Given the description of an element on the screen output the (x, y) to click on. 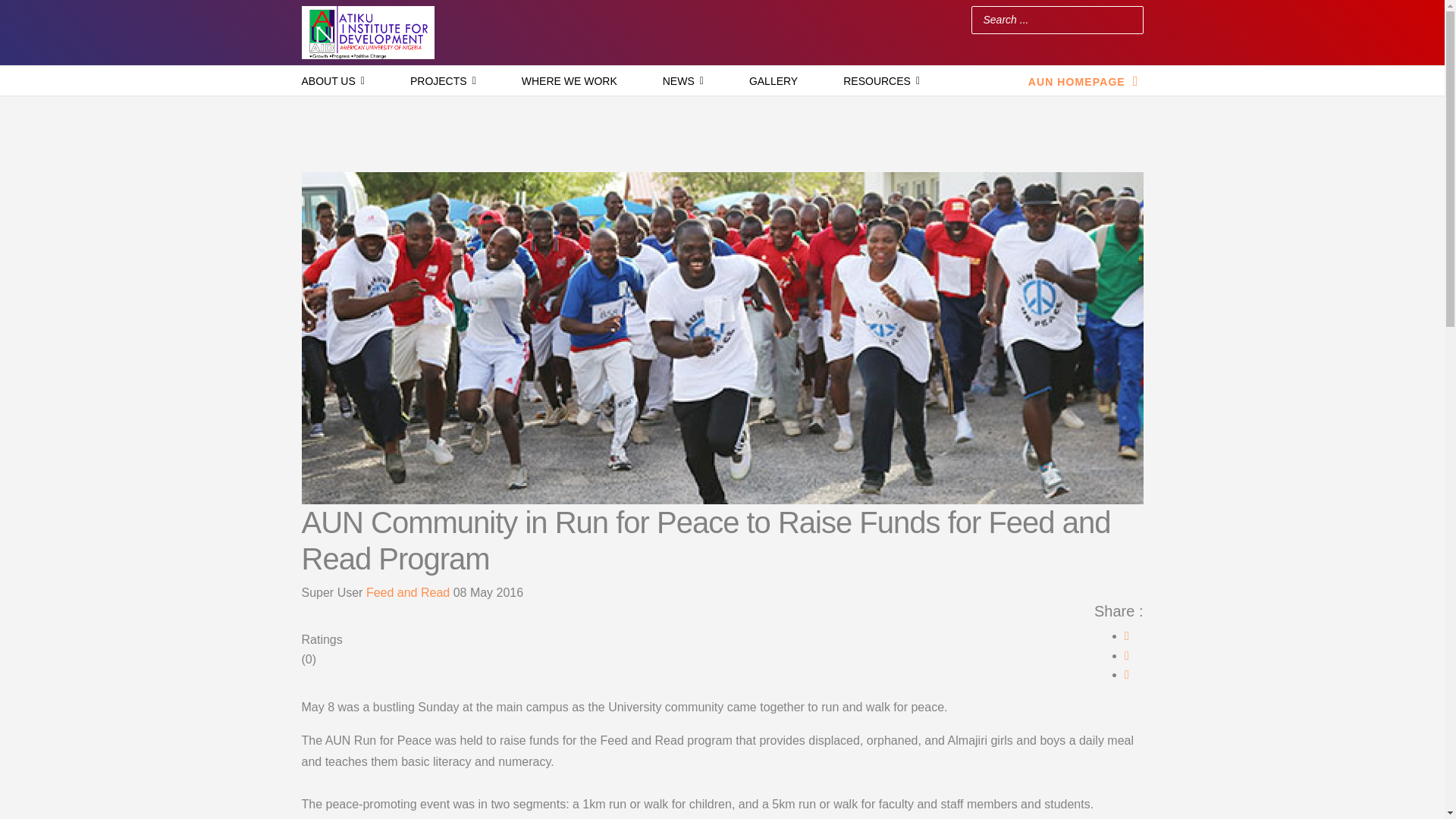
Published: 08 May 2016 (488, 592)
PROJECTS (442, 81)
WHERE WE WORK (569, 81)
Category: Feed and Read (409, 592)
AUN HOMEPAGE (1084, 80)
GALLERY (773, 81)
RESOURCES (881, 81)
NEWS (682, 81)
Feed and Read (407, 592)
ABOUT US (332, 81)
